Given the description of an element on the screen output the (x, y) to click on. 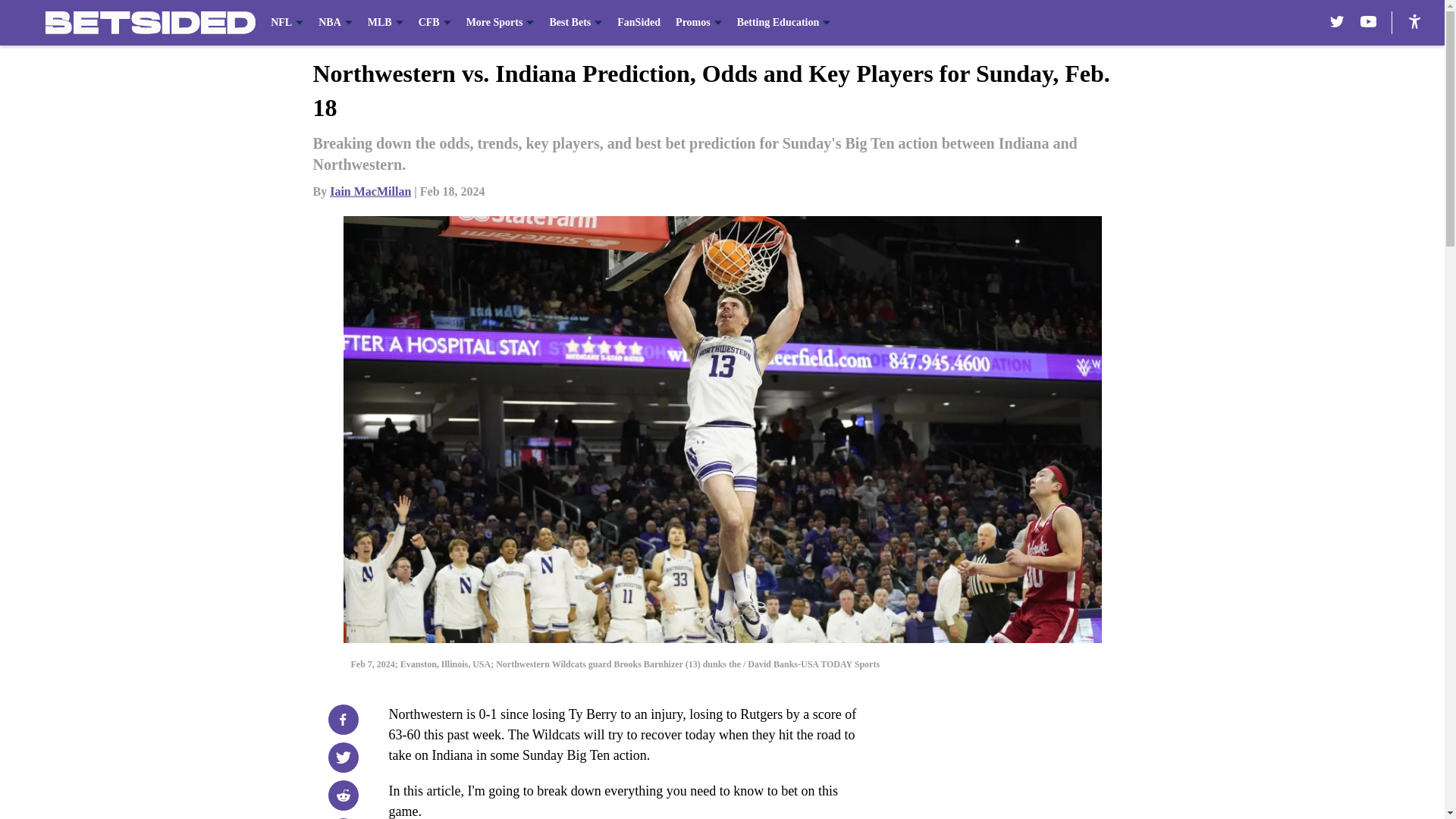
FanSided (639, 22)
NFL (286, 22)
CFB (435, 22)
NBA (335, 22)
MLB (385, 22)
